Given the description of an element on the screen output the (x, y) to click on. 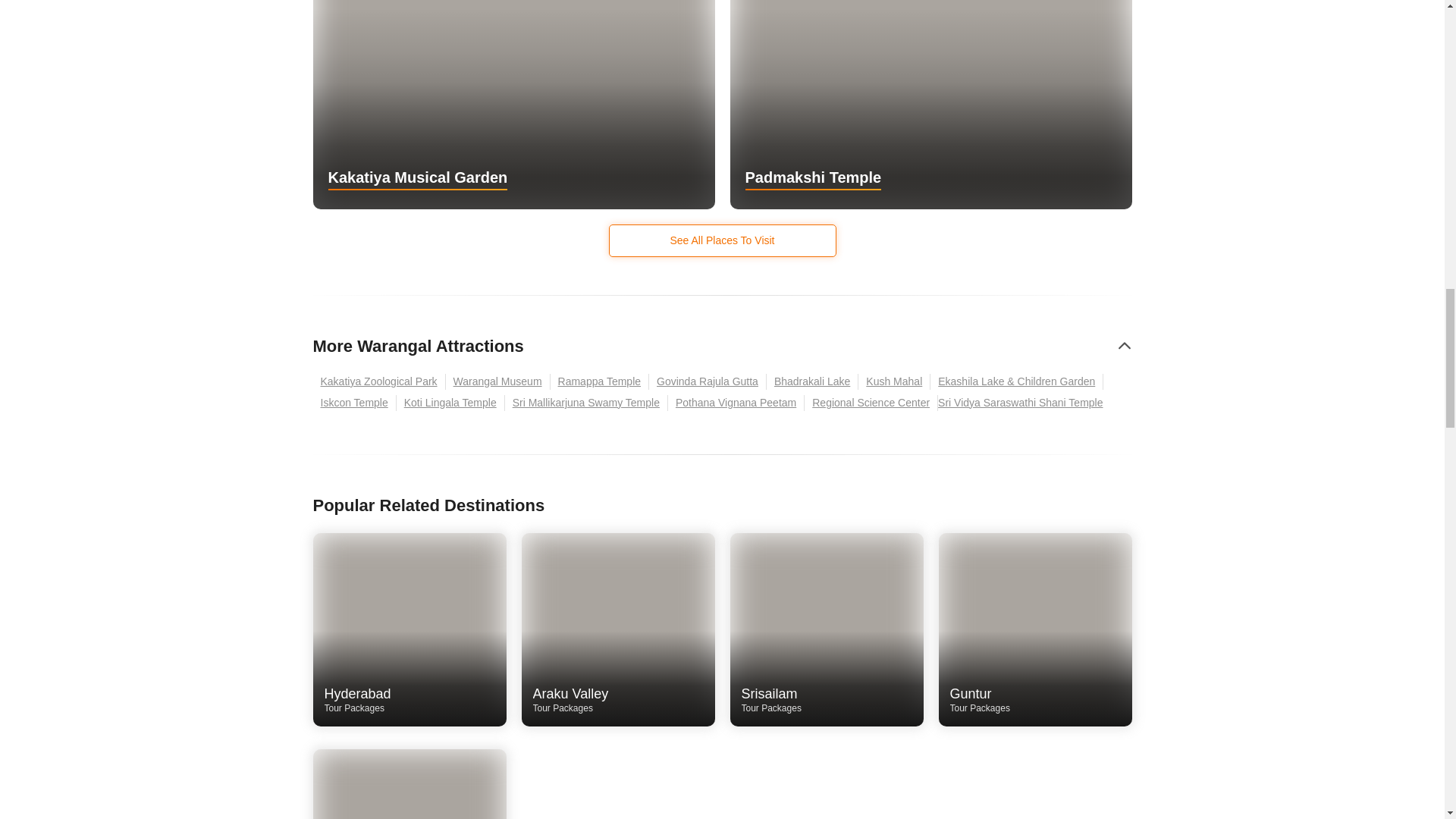
Ramappa Temple (599, 381)
Govinda Rajula Gutta (1034, 700)
Sri Mallikarjuna Swamy Temple (708, 381)
Koti Lingala Temple (586, 402)
Iskcon Temple (409, 700)
Kakatiya Zoological Park (450, 402)
Kakatiya Musical Garden (354, 402)
Bhadrakali Lake (379, 381)
Padmakshi Temple (513, 104)
Kush Mahal (826, 700)
Regional Science Center (813, 381)
